Given the description of an element on the screen output the (x, y) to click on. 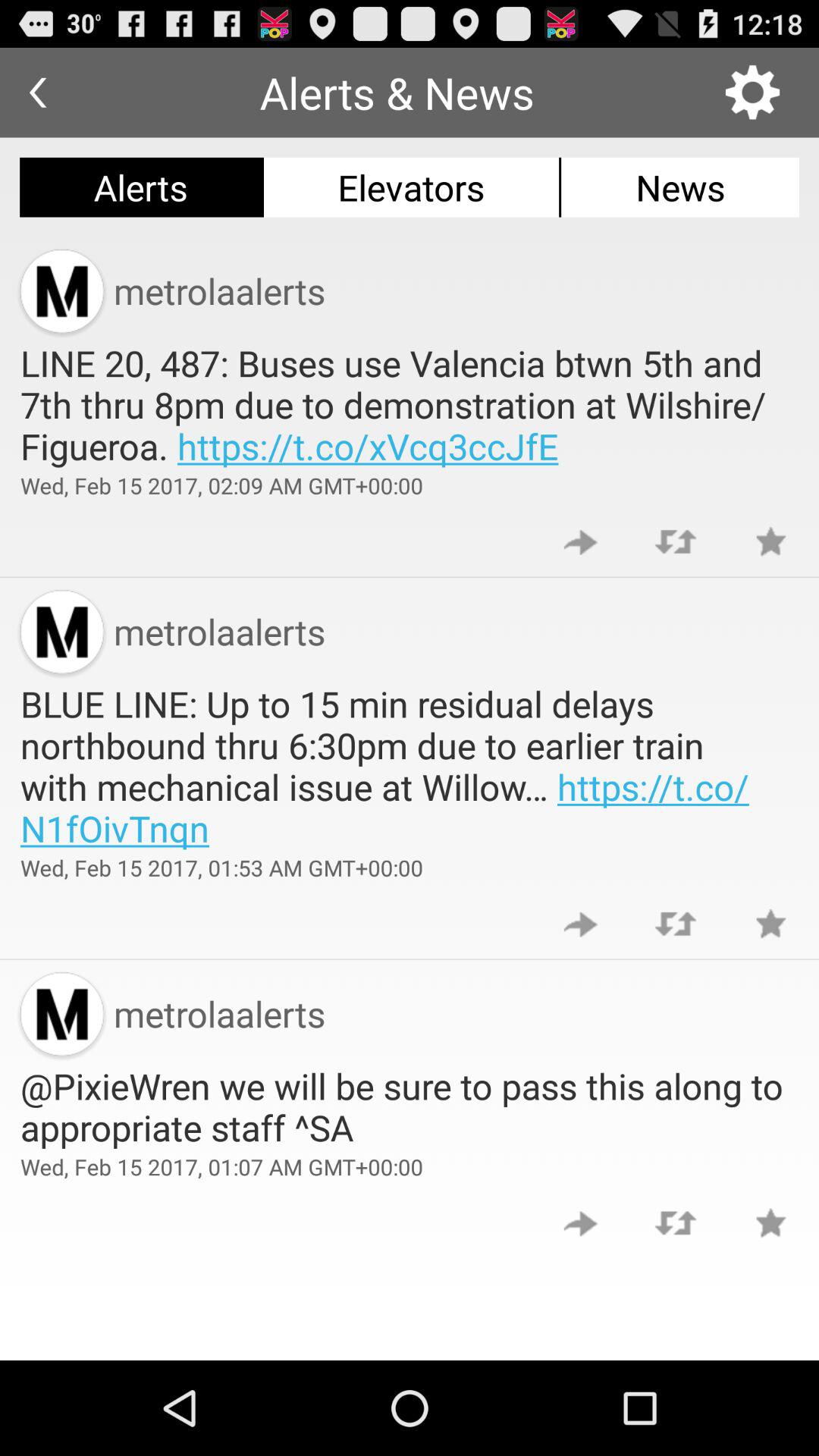
turn off the item above the news icon (752, 92)
